Given the description of an element on the screen output the (x, y) to click on. 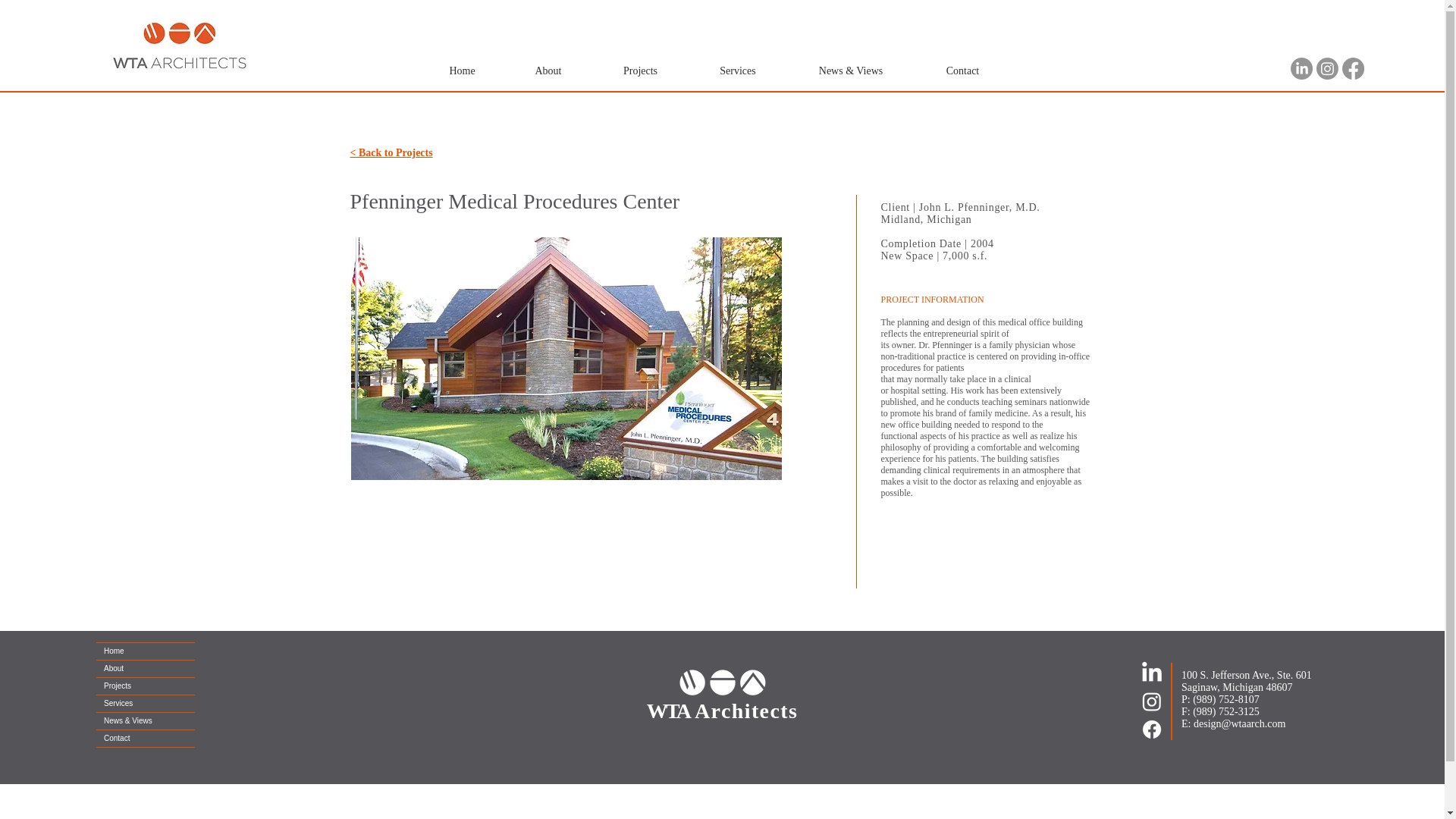
About (145, 668)
Projects (639, 71)
Home (145, 651)
Contact (962, 71)
About (548, 71)
Home (462, 71)
Services (737, 71)
